Given the description of an element on the screen output the (x, y) to click on. 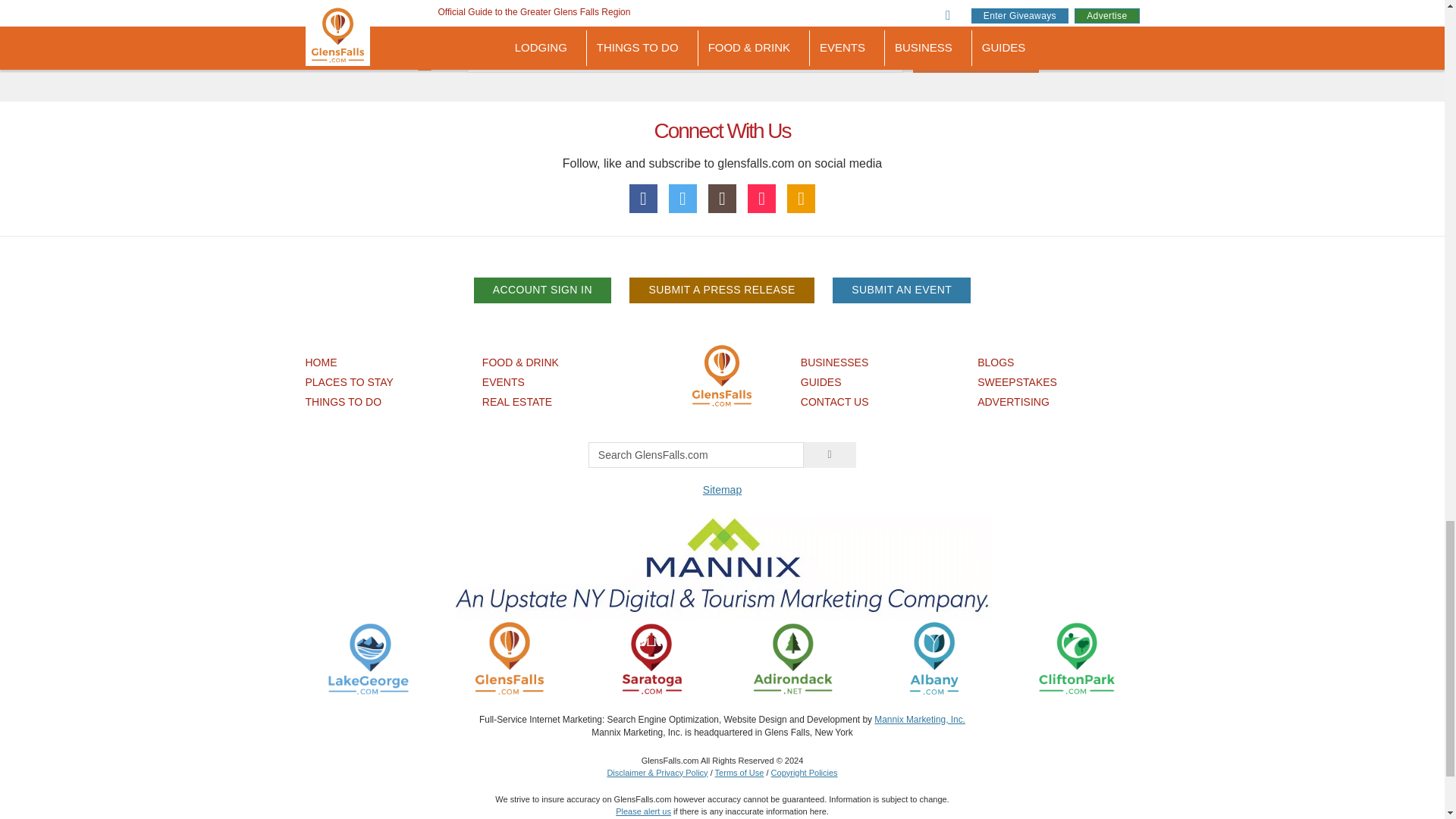
My Planner (801, 198)
Opens in a new window (792, 657)
Opens in a new window (1075, 657)
Facebook (643, 198)
Opens in a new window (933, 657)
Instagram (721, 198)
Twitter (682, 198)
TikTok (762, 198)
Opens in a new window (368, 657)
Opens in a new window (651, 657)
